Given the description of an element on the screen output the (x, y) to click on. 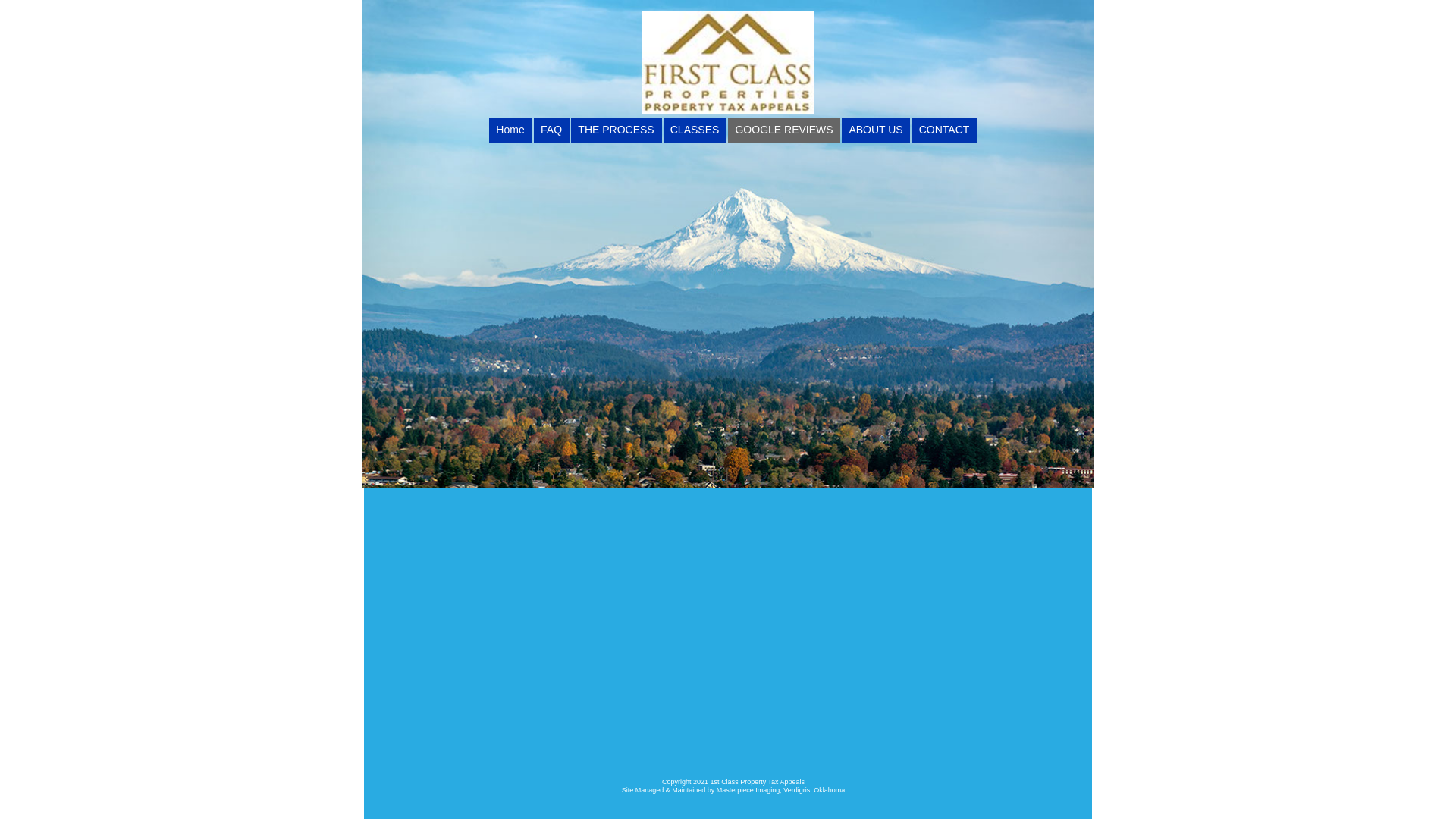
CONTACT Element type: text (943, 130)
ABOUT US Element type: text (875, 130)
FAQ Element type: text (551, 130)
THE PROCESS Element type: text (616, 130)
Home Element type: text (510, 130)
CLASSES Element type: text (694, 130)
GOOGLE REVIEWS Element type: text (784, 130)
